Given the description of an element on the screen output the (x, y) to click on. 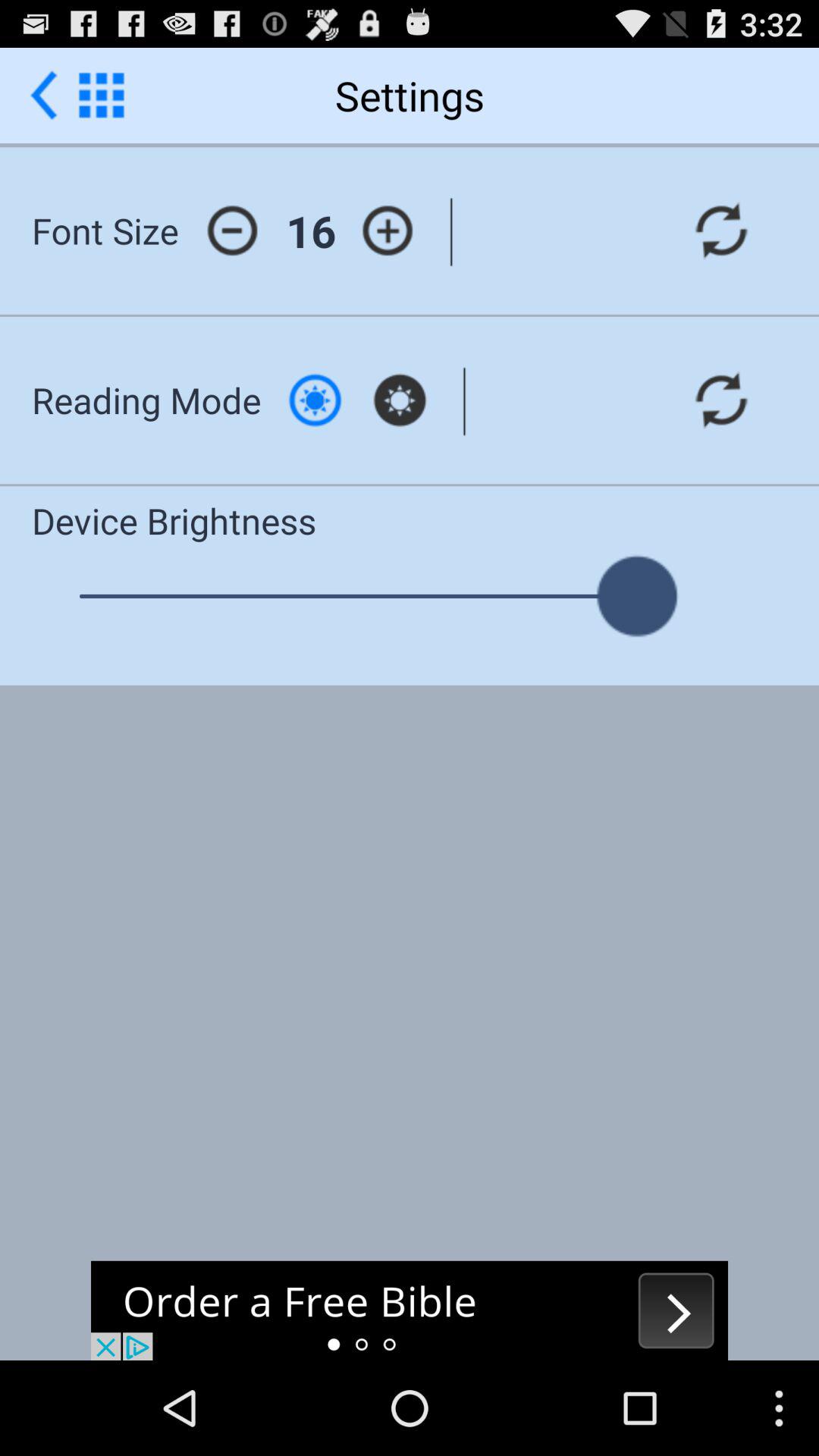
update font size (721, 230)
